Given the description of an element on the screen output the (x, y) to click on. 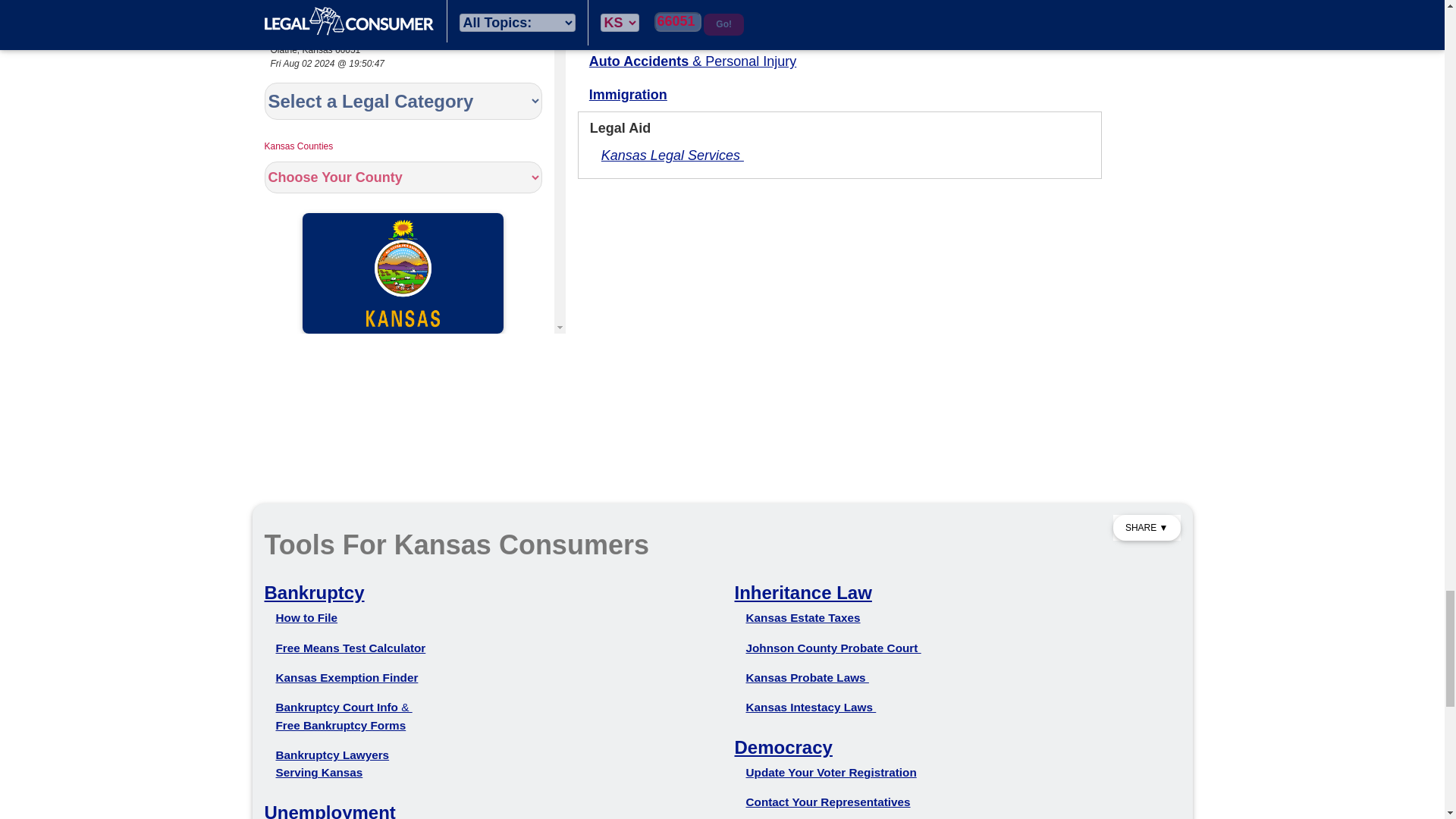
Johnson County, Kansas Unemployment Guide (328, 810)
Bankruptcy Lawyers serving Johnson County, Kansas (333, 763)
Johnson County, Kansas Bankruptcy Guide (313, 592)
Choose a social sharing platform (1146, 527)
Bankruptcy Means Test for Johnson County (351, 647)
Kansas Bankruptcy Exemptions (347, 676)
Johnson County Bankruptcy Court Information (344, 707)
Free Bankruptcy Forms for Johnson County, Kansas (341, 725)
How to File Bankruptcy in Johnson County, Kansas (306, 617)
